Given the description of an element on the screen output the (x, y) to click on. 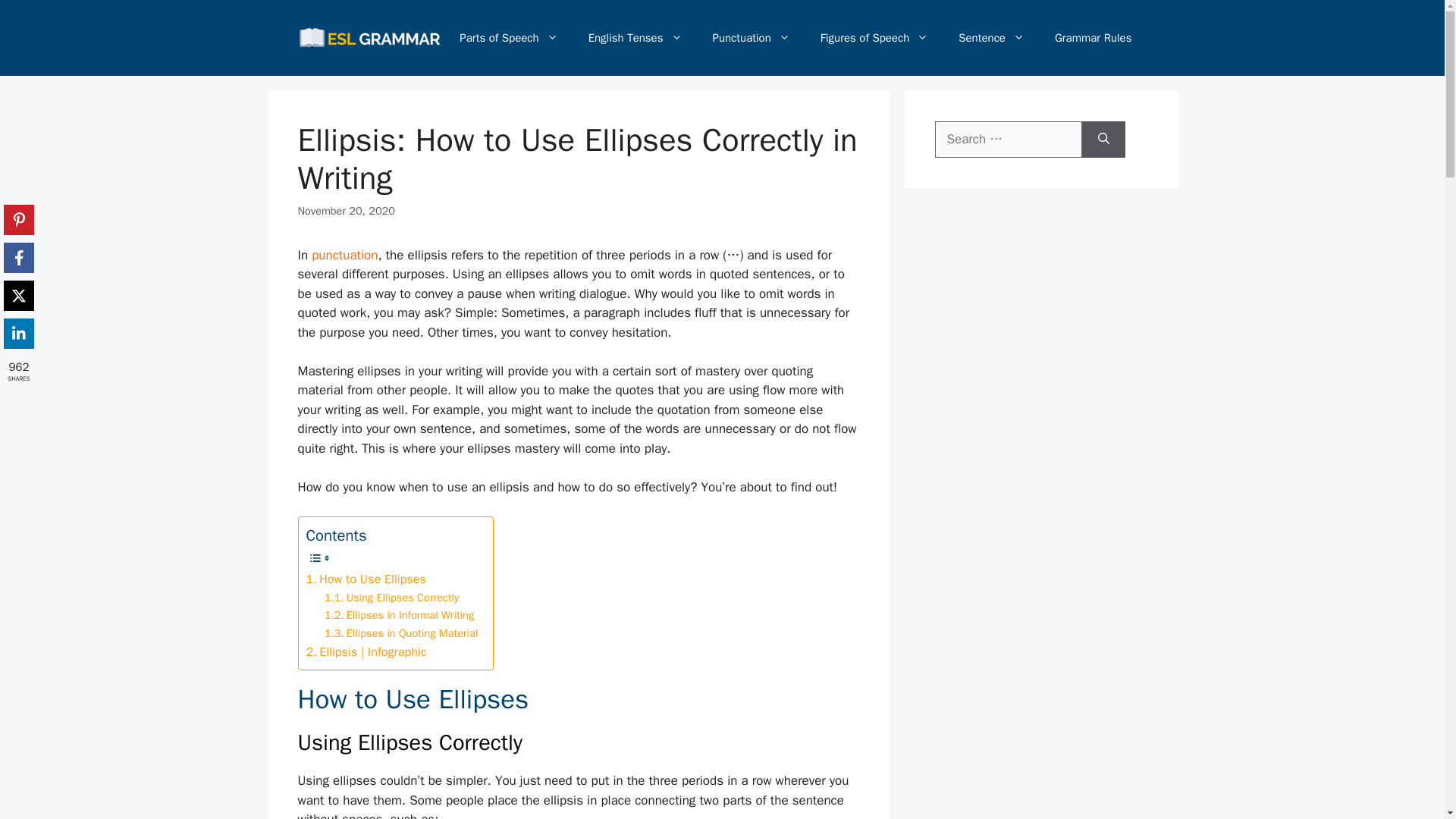
How to Use Ellipses (365, 578)
Ellipses in Quoting Material (401, 633)
Parts of Speech (508, 37)
Ellipses in Informal Writing (399, 615)
Using Ellipses Correctly (391, 597)
